Given the description of an element on the screen output the (x, y) to click on. 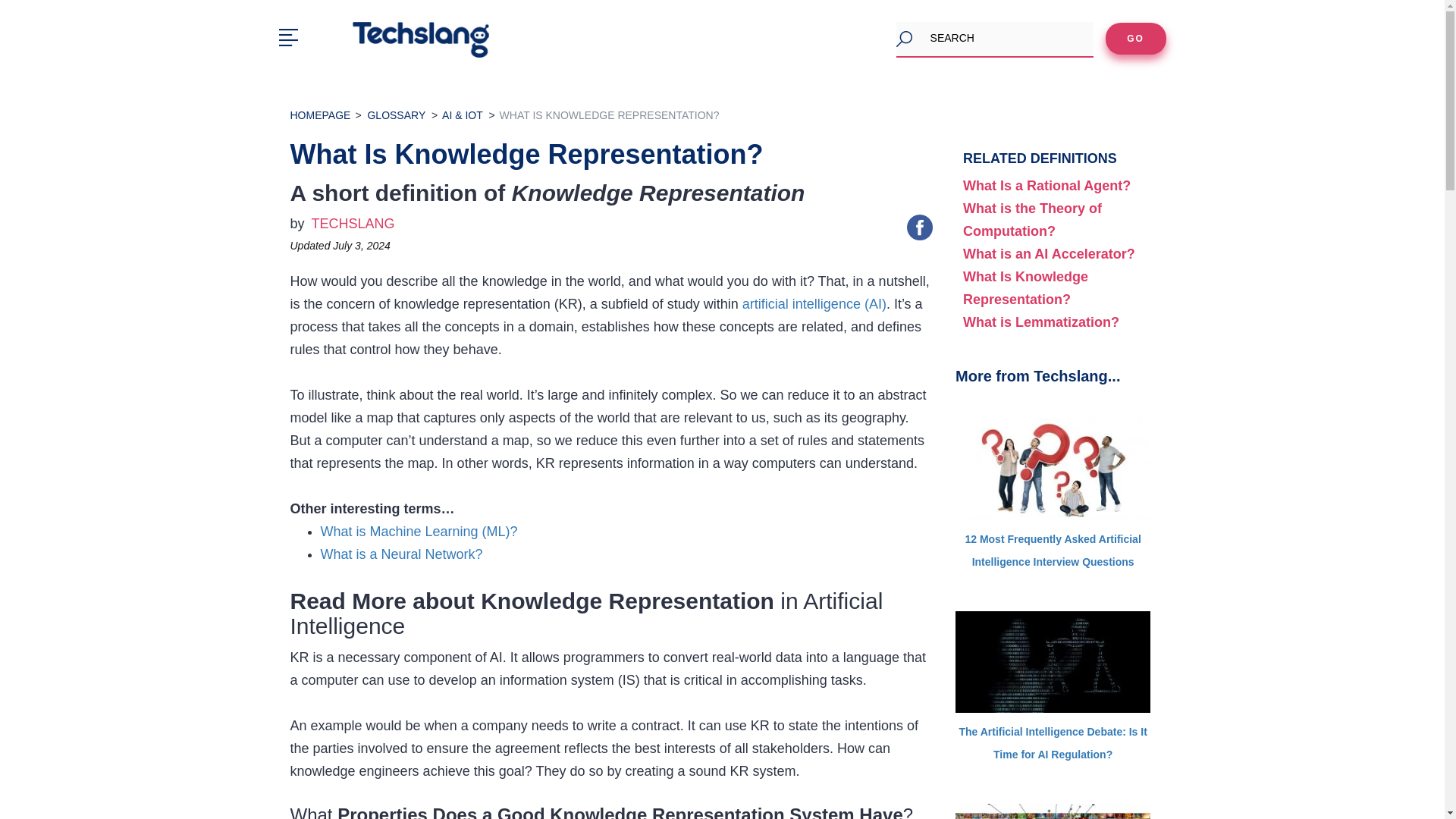
What is a Neural Network? (400, 554)
GO (1135, 38)
Facebook (920, 227)
HOMEPAGE (319, 114)
GLOSSARY (395, 114)
